Given the description of an element on the screen output the (x, y) to click on. 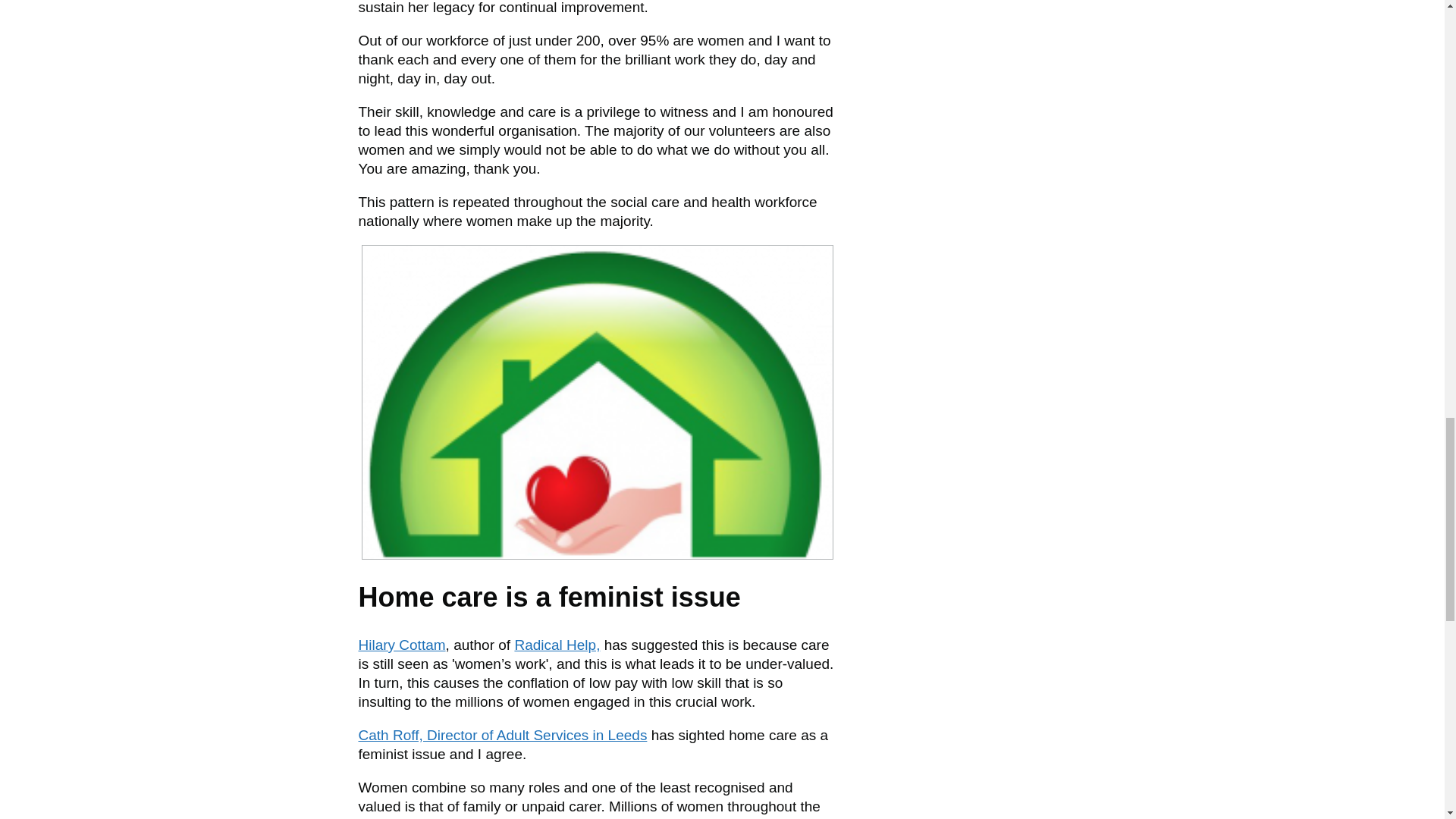
Cath Roff, Director of Adult Services in Leeds (502, 734)
Radical Help, (556, 644)
Hilary Cottam (401, 644)
